Given the description of an element on the screen output the (x, y) to click on. 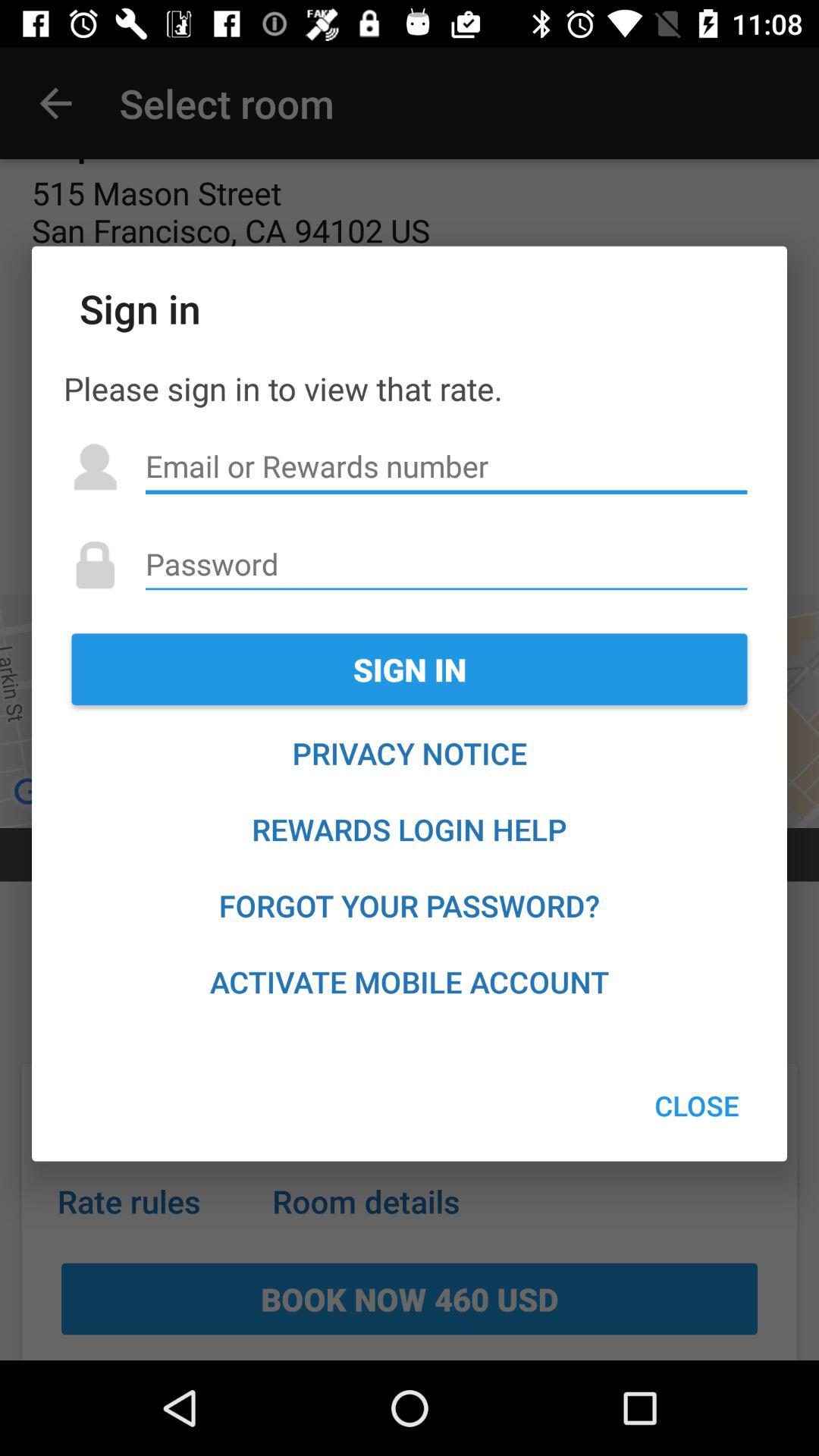
launch privacy notice item (409, 753)
